Given the description of an element on the screen output the (x, y) to click on. 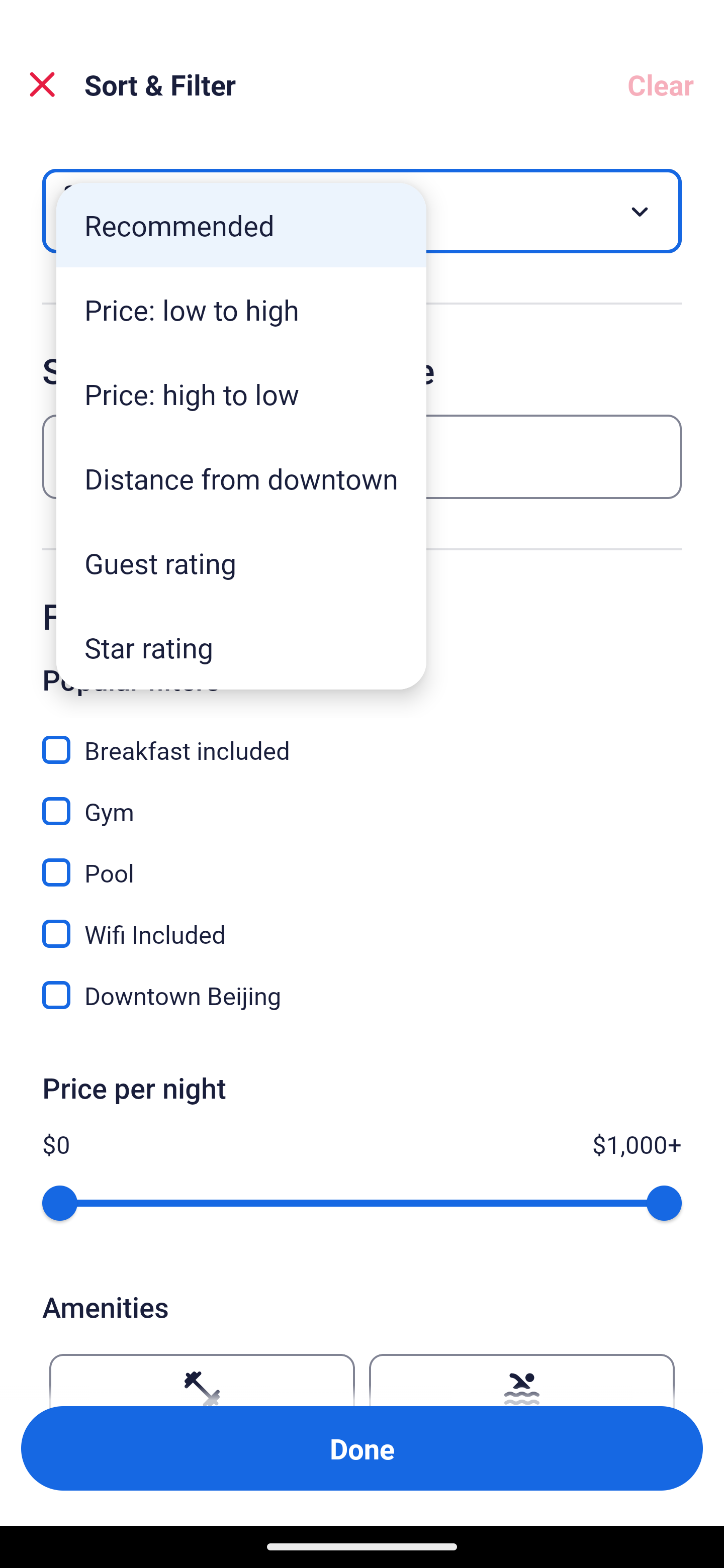
Price: low to high (241, 309)
Price: high to low (241, 393)
Distance from downtown (241, 477)
Guest rating (241, 562)
Star rating (241, 647)
